Given the description of an element on the screen output the (x, y) to click on. 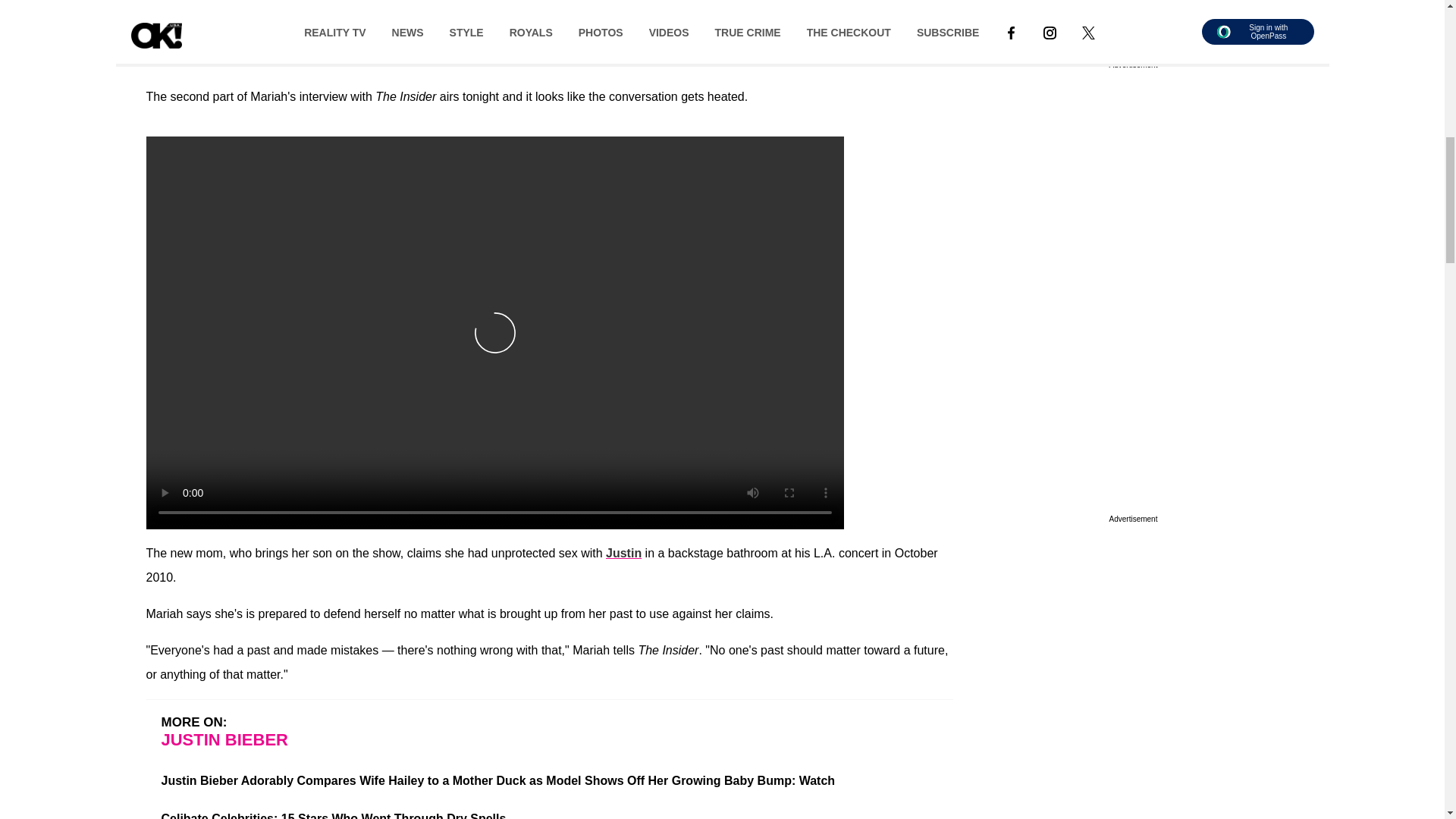
Justin (623, 553)
